Given the description of an element on the screen output the (x, y) to click on. 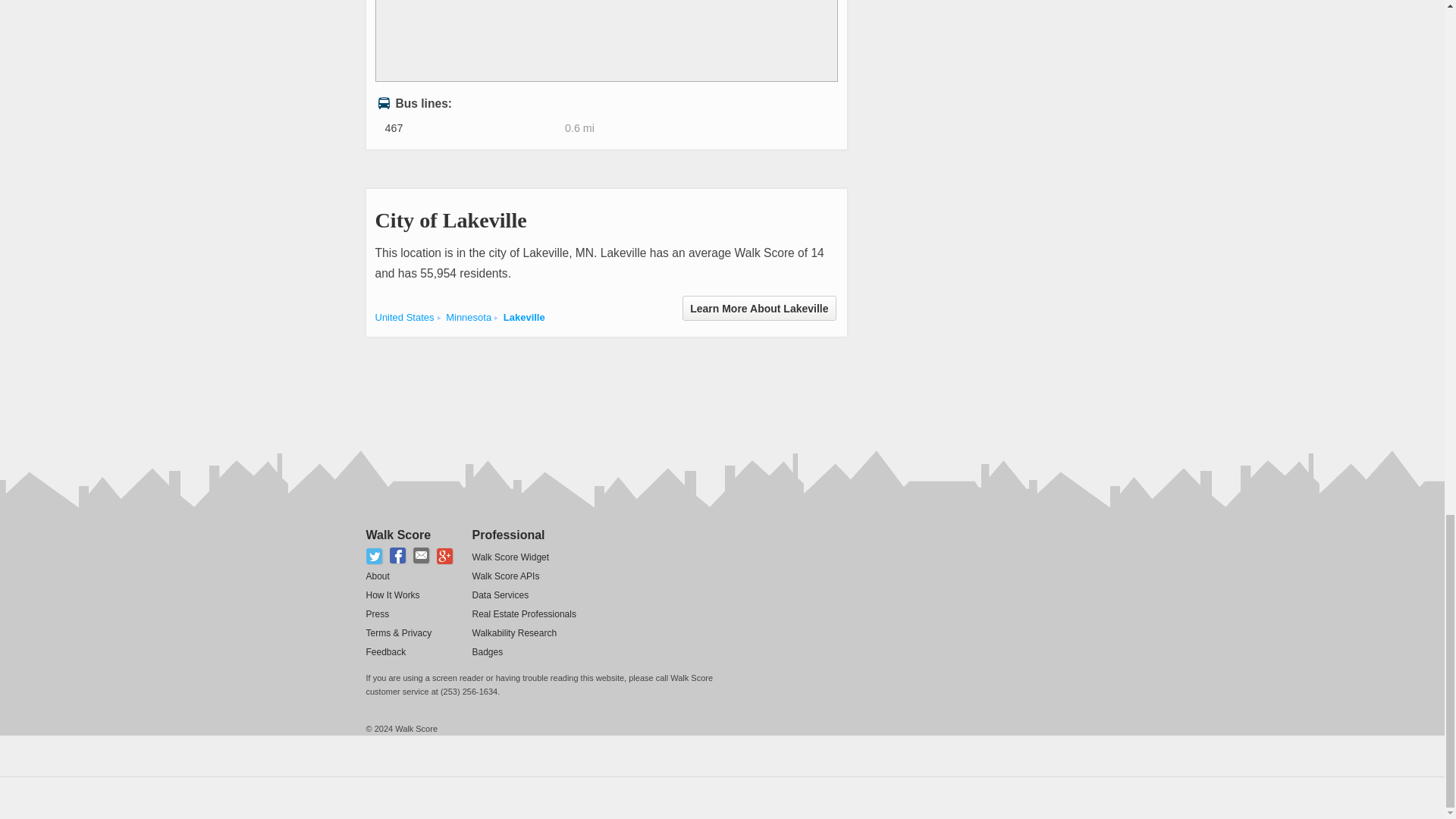
Learn More About Lakeville (758, 308)
Minnesota (468, 317)
United States Walkability Rankings (403, 317)
3rd party ad content (641, 386)
United States (403, 317)
Cities in Minnesota state (468, 317)
